Given the description of an element on the screen output the (x, y) to click on. 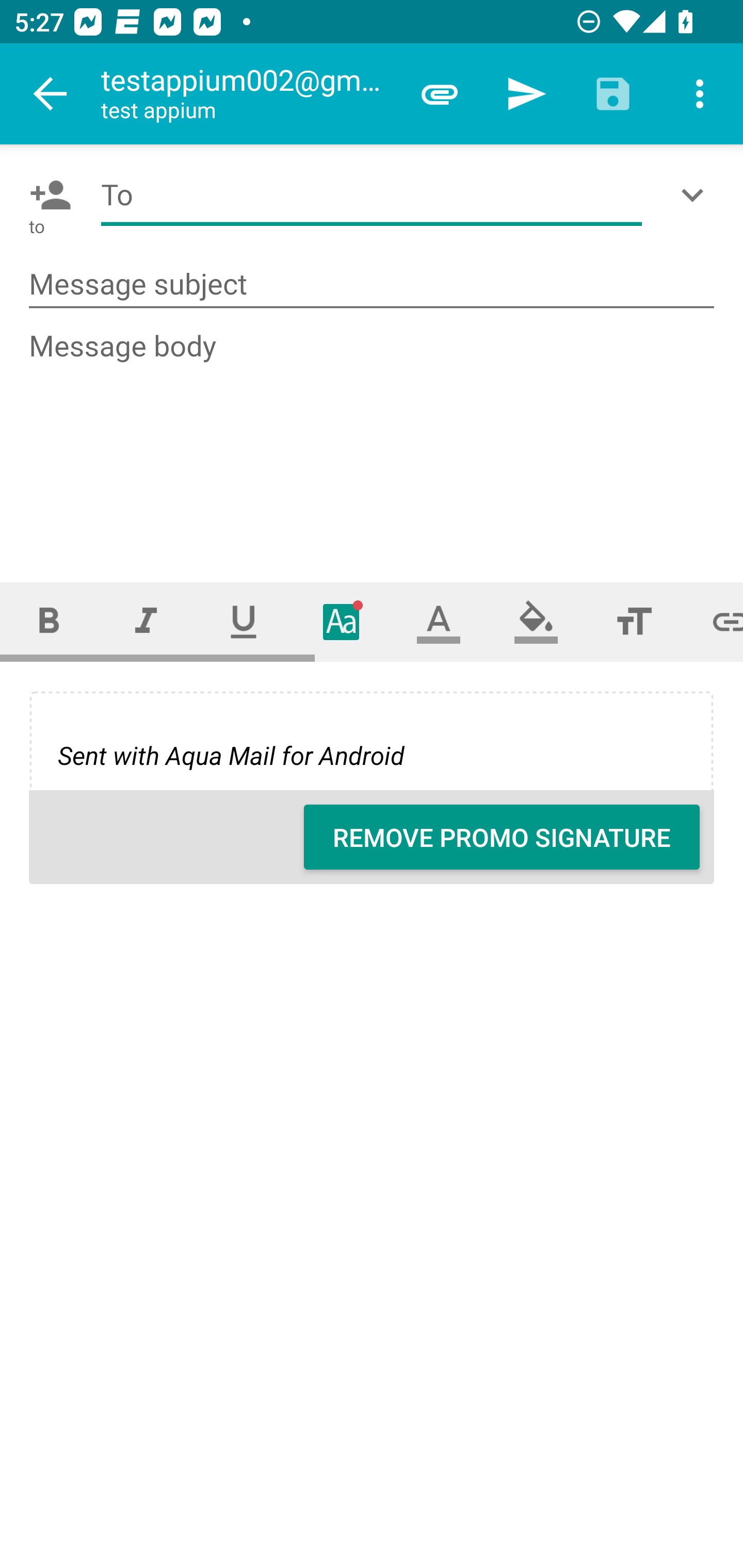
Navigate up (50, 93)
testappium002@gmail.com test appium (248, 93)
Attach (439, 93)
Send (525, 93)
Save (612, 93)
More options (699, 93)
Pick contact: To (46, 195)
Show/Add CC/BCC (696, 195)
To (371, 195)
Message subject (371, 284)
Bold (48, 621)
Italic (145, 621)
Underline (243, 621)
Typeface (font) (341, 621)
Text color (438, 621)
Fill color (536, 621)
Font size (633, 621)
Set link (712, 621)
REMOVE PROMO SIGNATURE (501, 837)
